Given the description of an element on the screen output the (x, y) to click on. 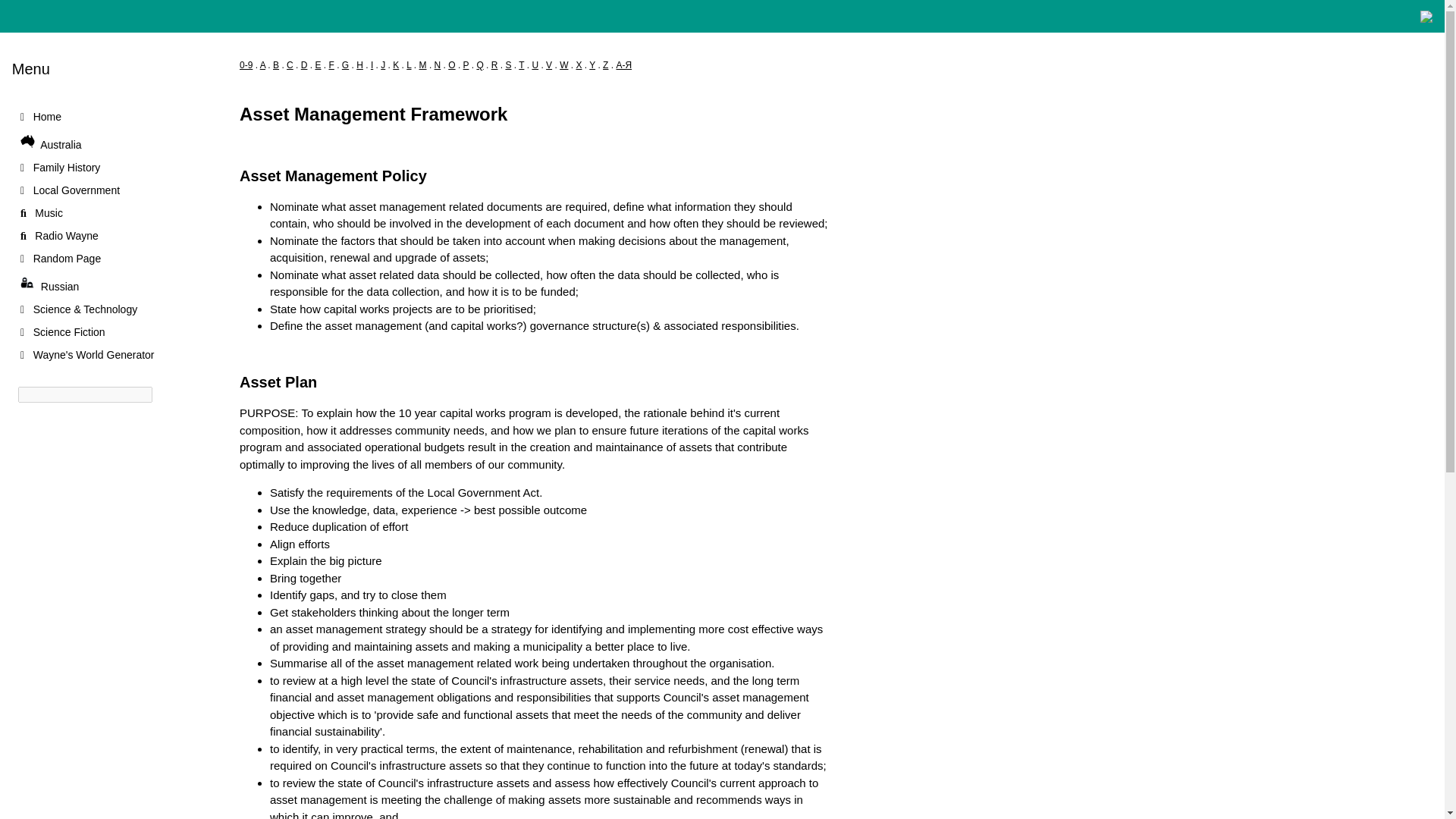
0-9 (245, 64)
